Given the description of an element on the screen output the (x, y) to click on. 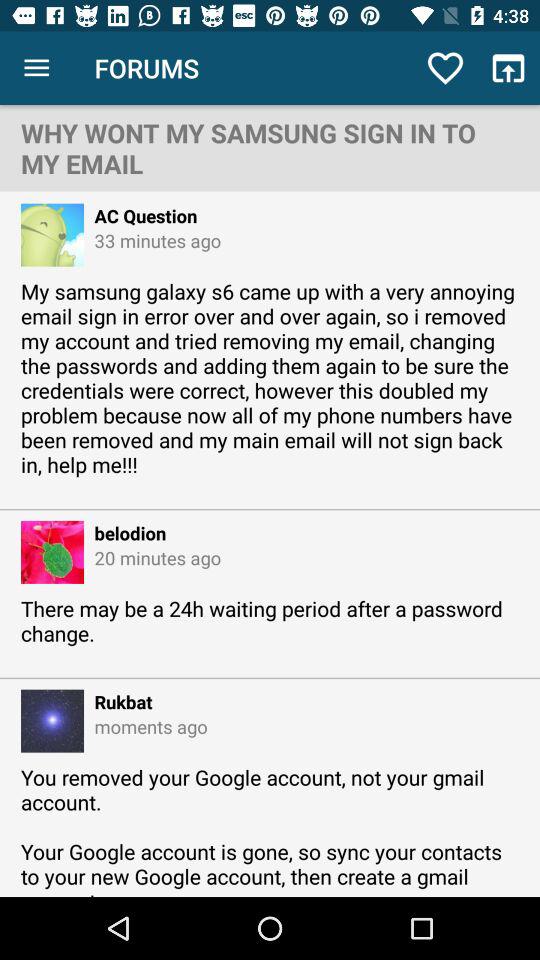
press the you removed your (270, 829)
